Given the description of an element on the screen output the (x, y) to click on. 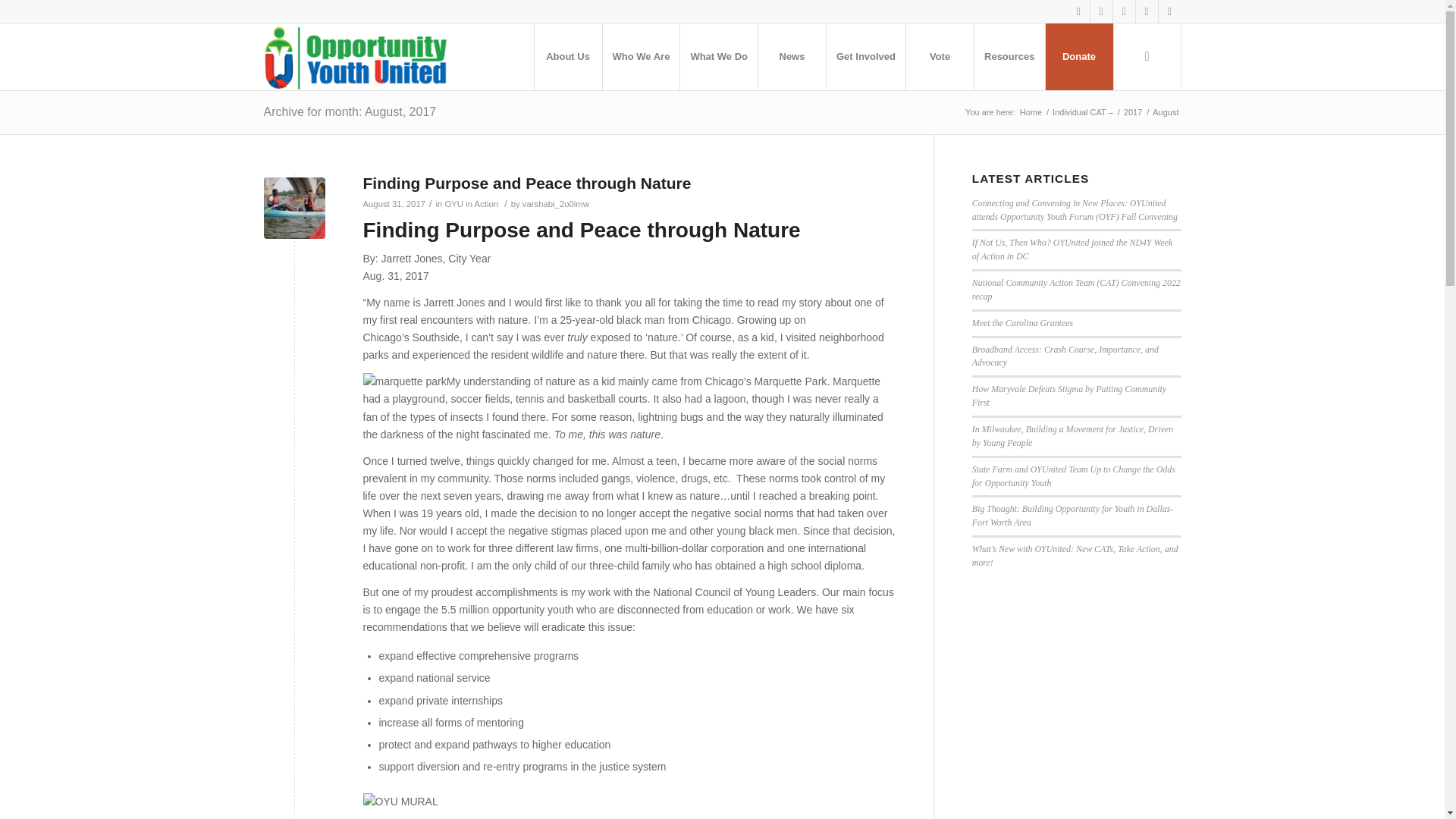
About Us (568, 56)
Instagram (1146, 11)
Facebook (1078, 11)
Opportunity Youth United (1030, 112)
2017 (1132, 112)
Who We Are (640, 56)
Permanent Link: Finding Purpose and Peace through Nature (526, 182)
Finding Purpose and Peace through Nature (293, 208)
Gplus (1124, 11)
Twitter (1101, 11)
